Given the description of an element on the screen output the (x, y) to click on. 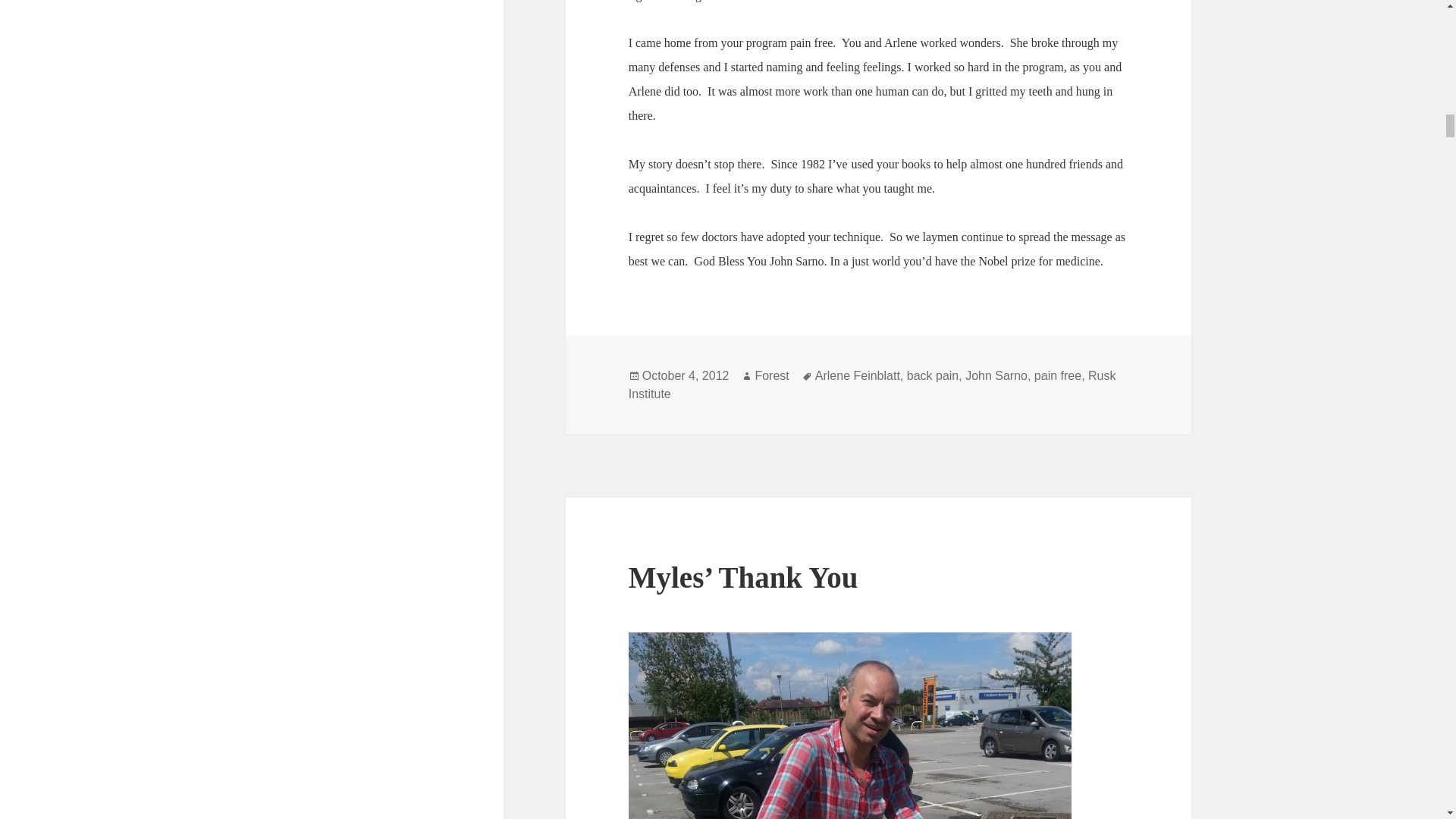
Myles' Photo (849, 725)
